Given the description of an element on the screen output the (x, y) to click on. 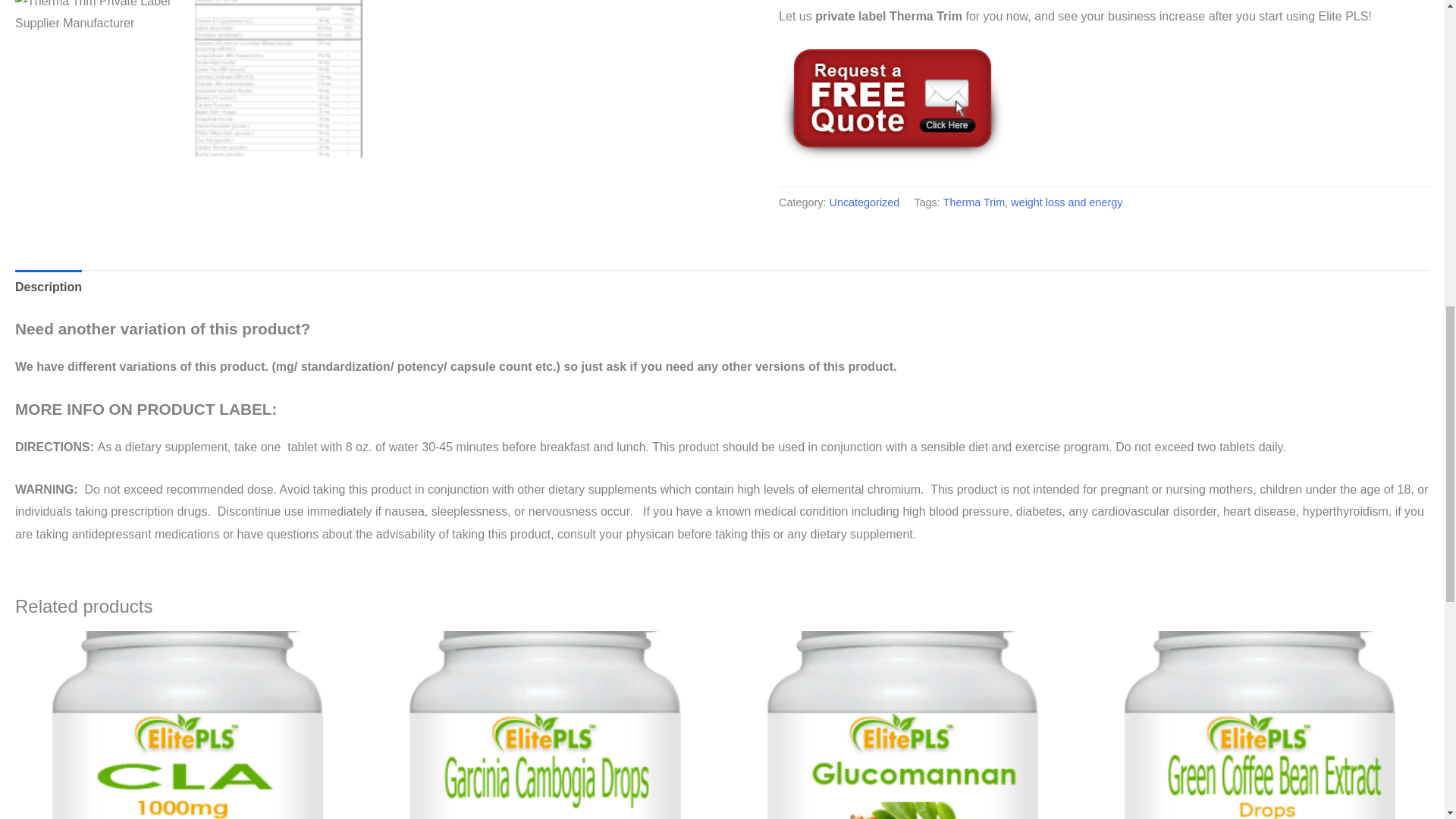
Description (47, 287)
weight loss and energy (1066, 202)
Uncategorized (864, 202)
Therma Trim (974, 202)
